Given the description of an element on the screen output the (x, y) to click on. 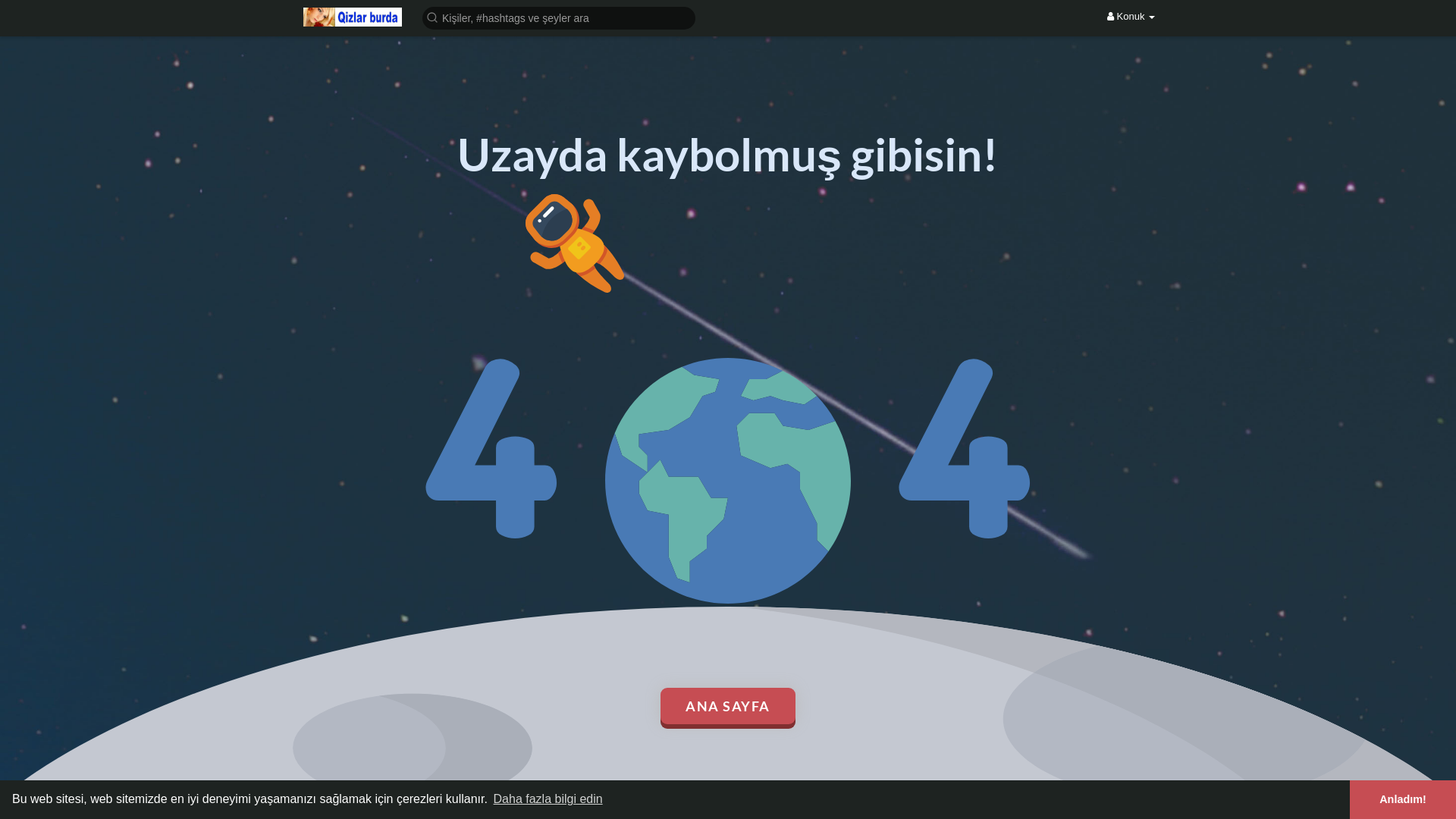
Konuk Element type: text (1131, 17)
Daha fazla bilgi edin Element type: text (547, 798)
ANA SAYFA Element type: text (727, 705)
